Given the description of an element on the screen output the (x, y) to click on. 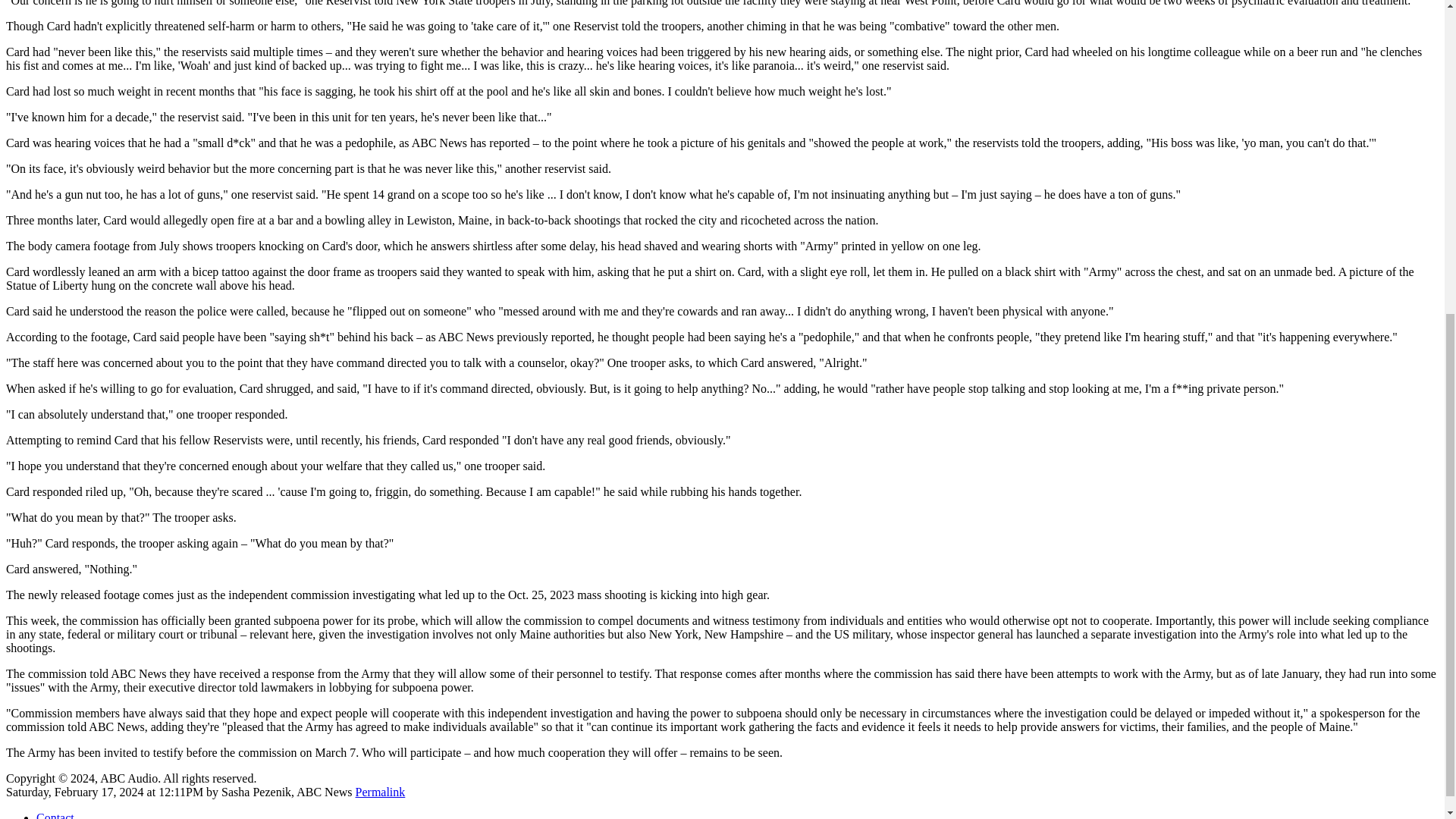
Permalink (380, 791)
